Given the description of an element on the screen output the (x, y) to click on. 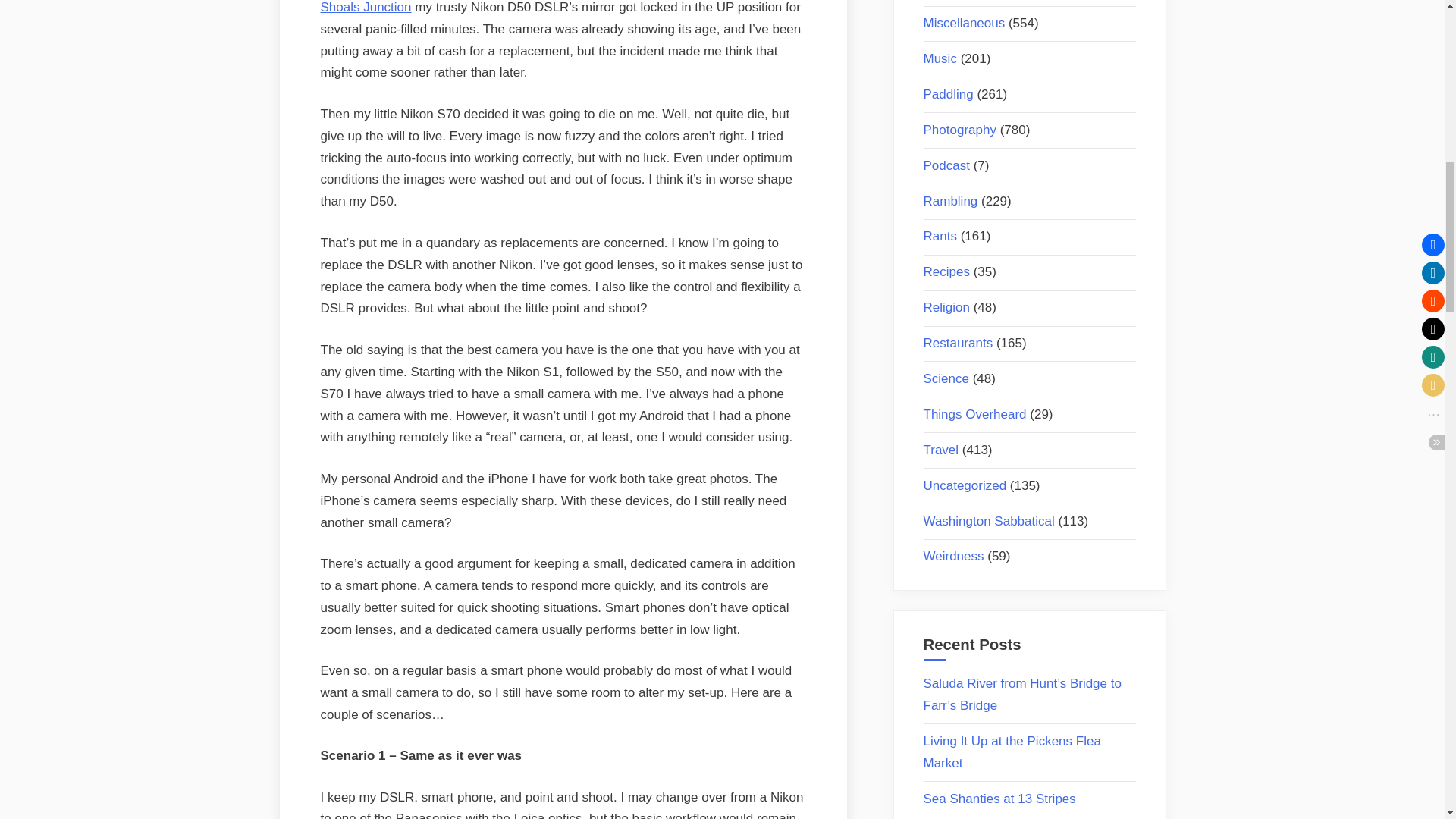
recent excursion to Shoals Junction (557, 7)
